Given the description of an element on the screen output the (x, y) to click on. 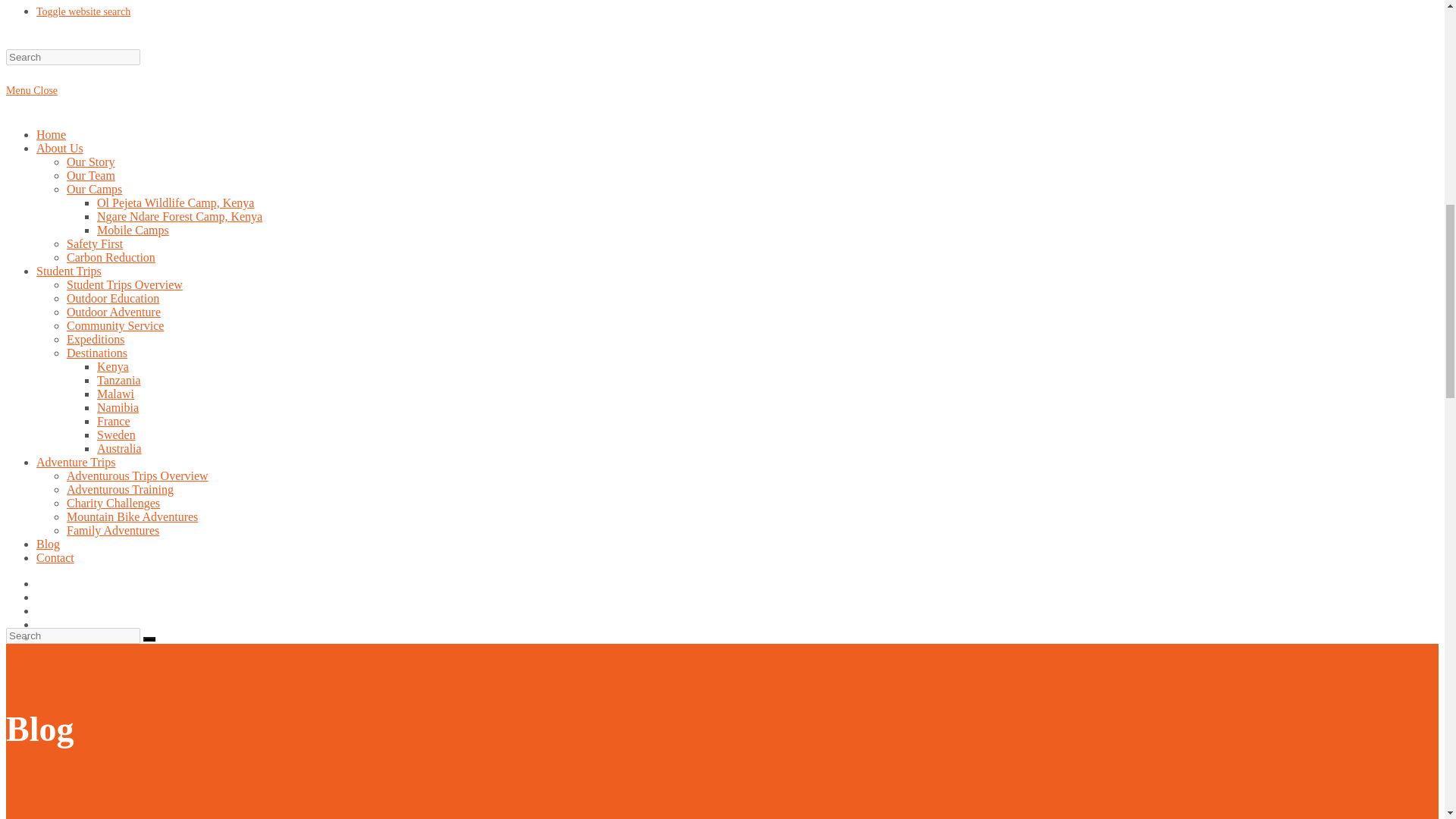
Toggle website search (83, 11)
